Given the description of an element on the screen output the (x, y) to click on. 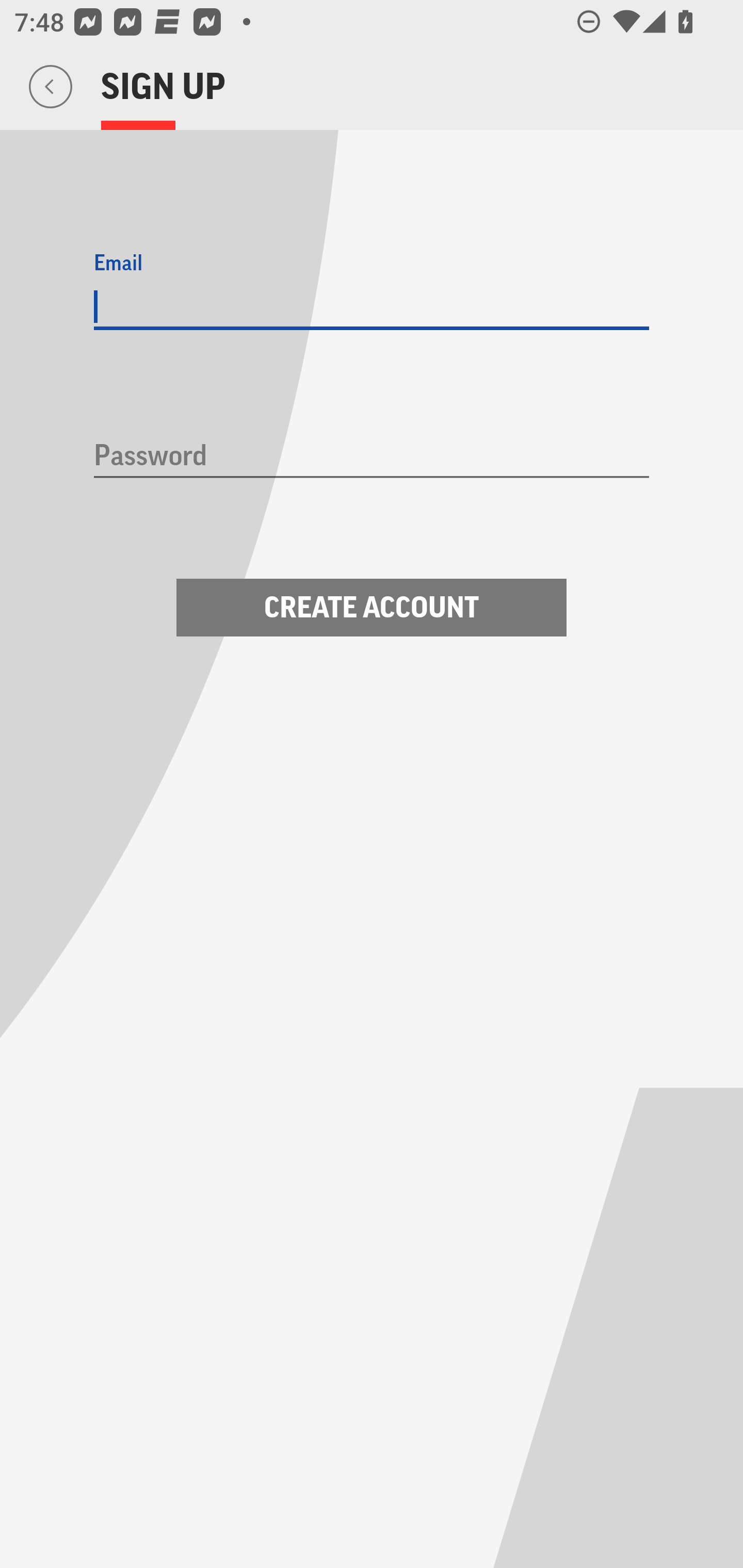
Email (371, 306)
Password (371, 456)
CREATE ACCOUNT (371, 607)
